Given the description of an element on the screen output the (x, y) to click on. 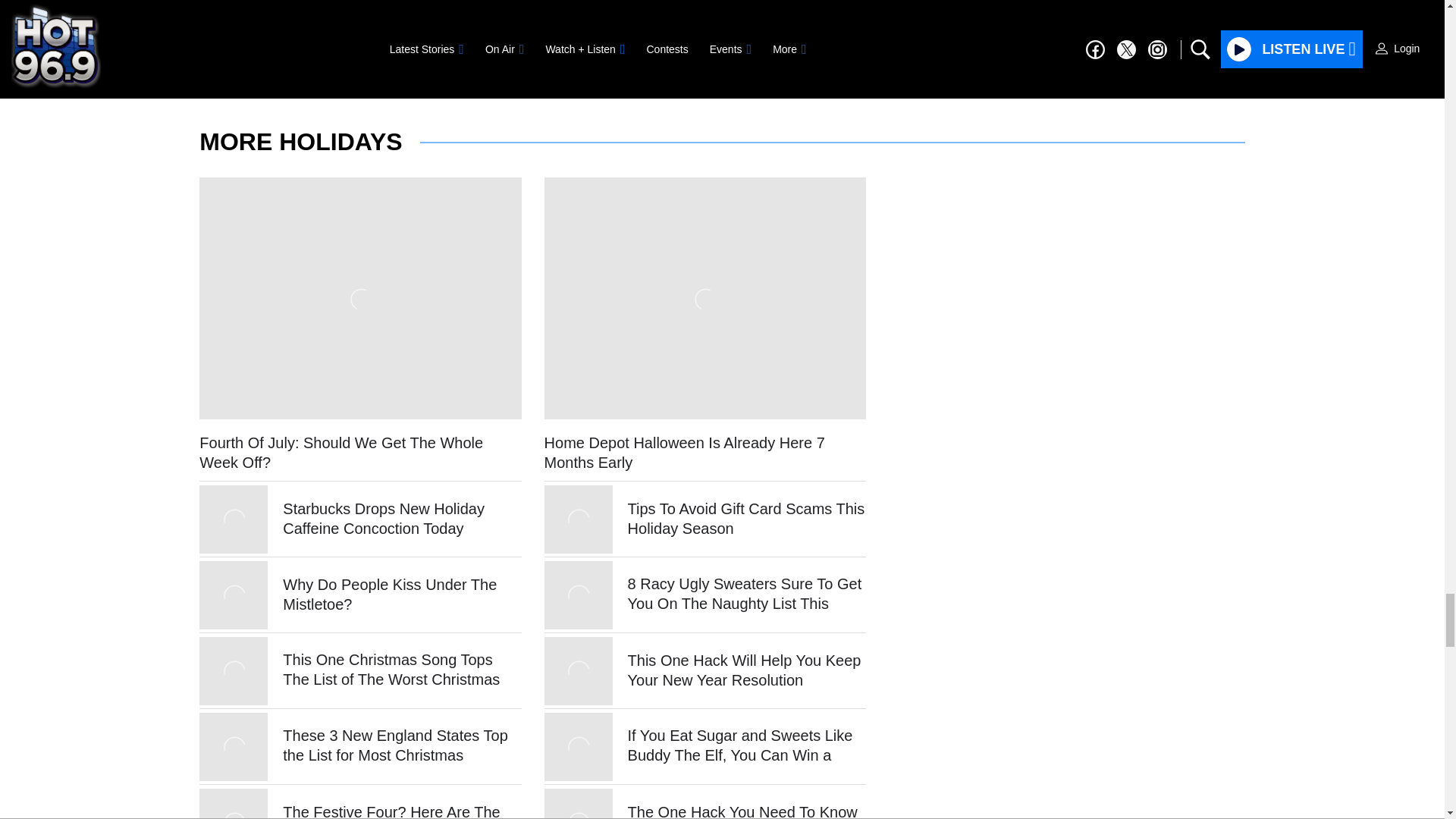
Glennisha Morgan (299, 36)
